Given the description of an element on the screen output the (x, y) to click on. 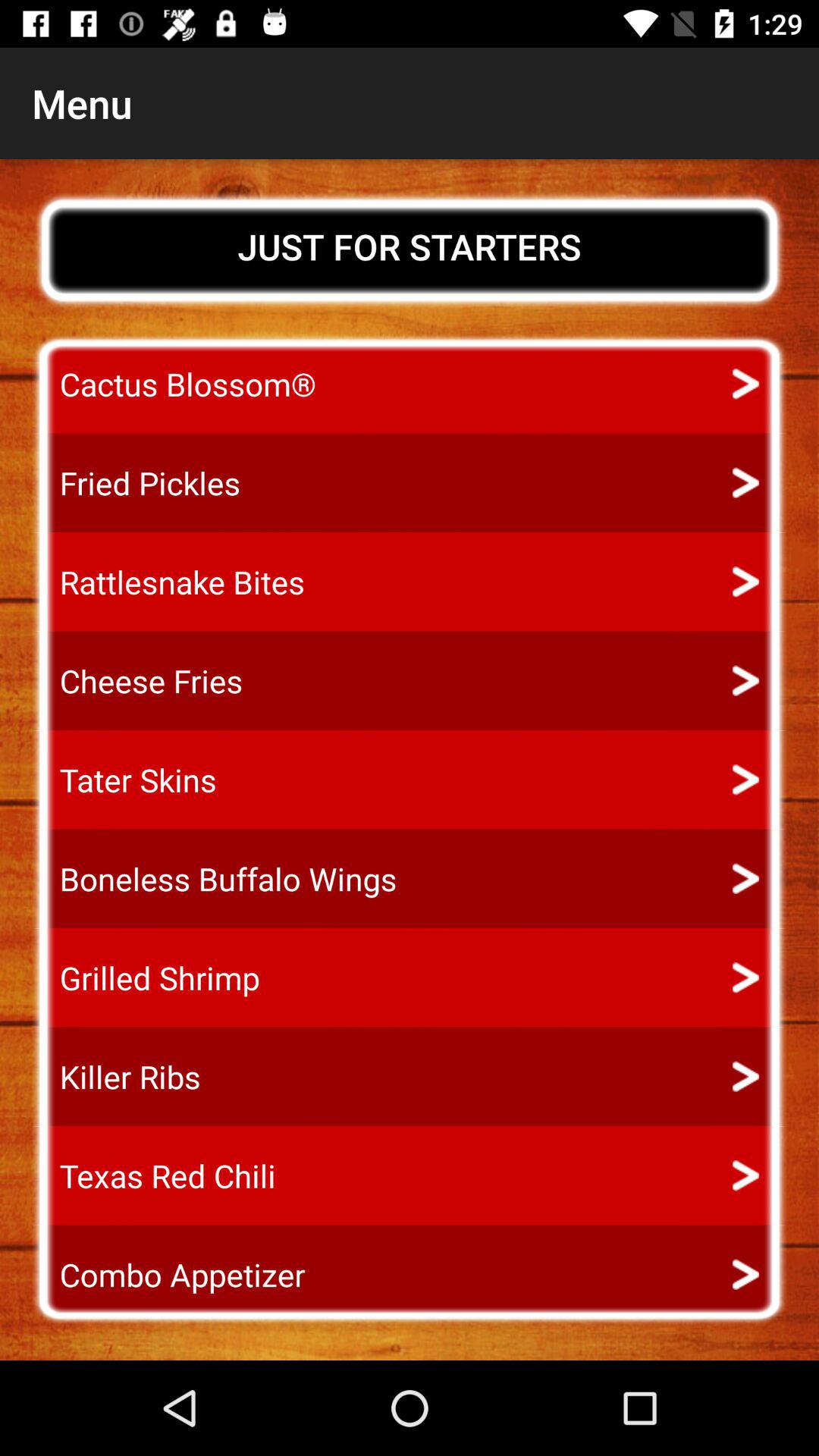
swipe to the cheese fries icon (136, 680)
